Given the description of an element on the screen output the (x, y) to click on. 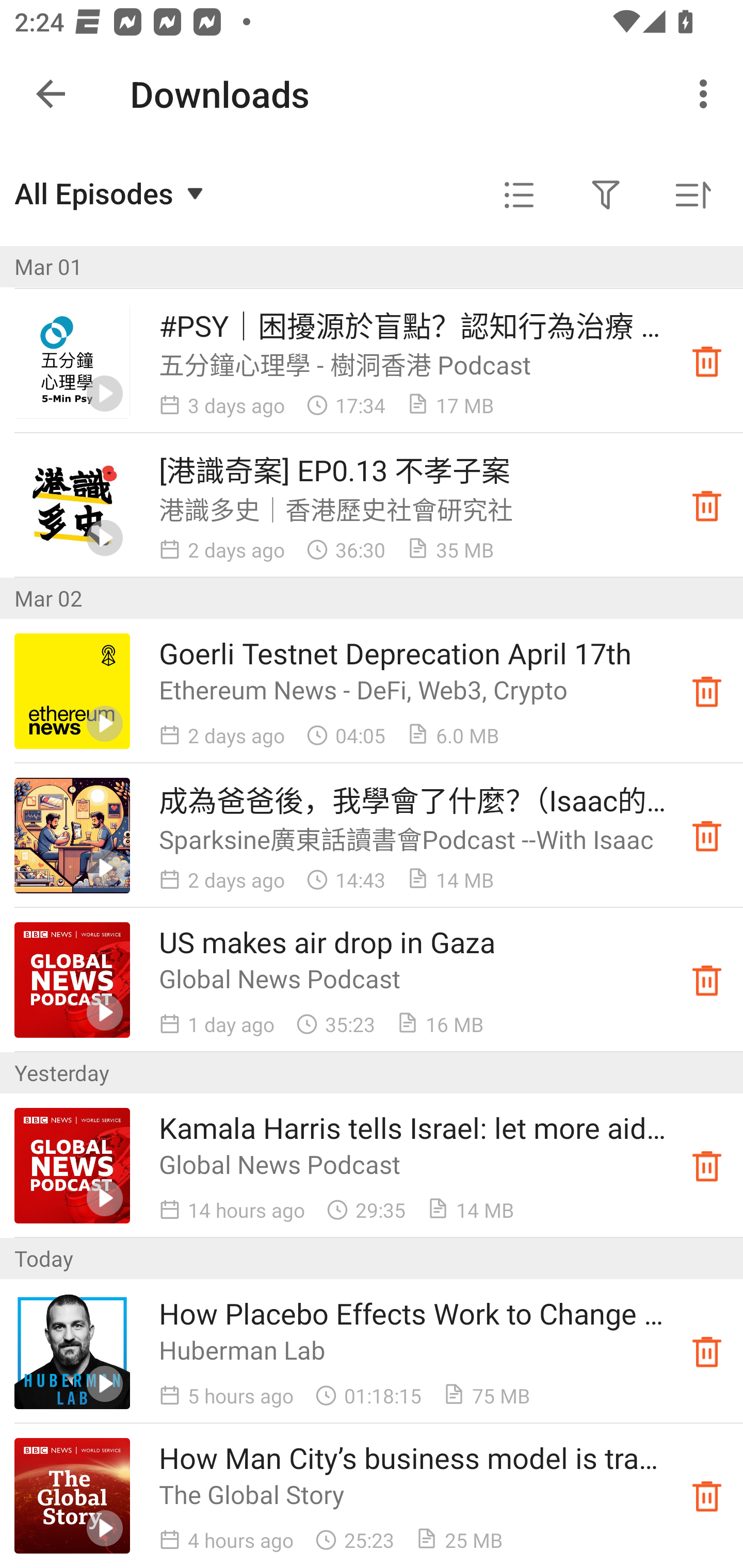
Navigate up (50, 93)
More options (706, 93)
All Episodes (111, 192)
 (518, 195)
 (605, 195)
 Sorted by oldest first (692, 195)
Downloaded (706, 360)
Downloaded (706, 505)
Downloaded (706, 691)
Downloaded (706, 835)
Downloaded (706, 979)
Downloaded (706, 1165)
Downloaded (706, 1351)
Downloaded (706, 1495)
